Given the description of an element on the screen output the (x, y) to click on. 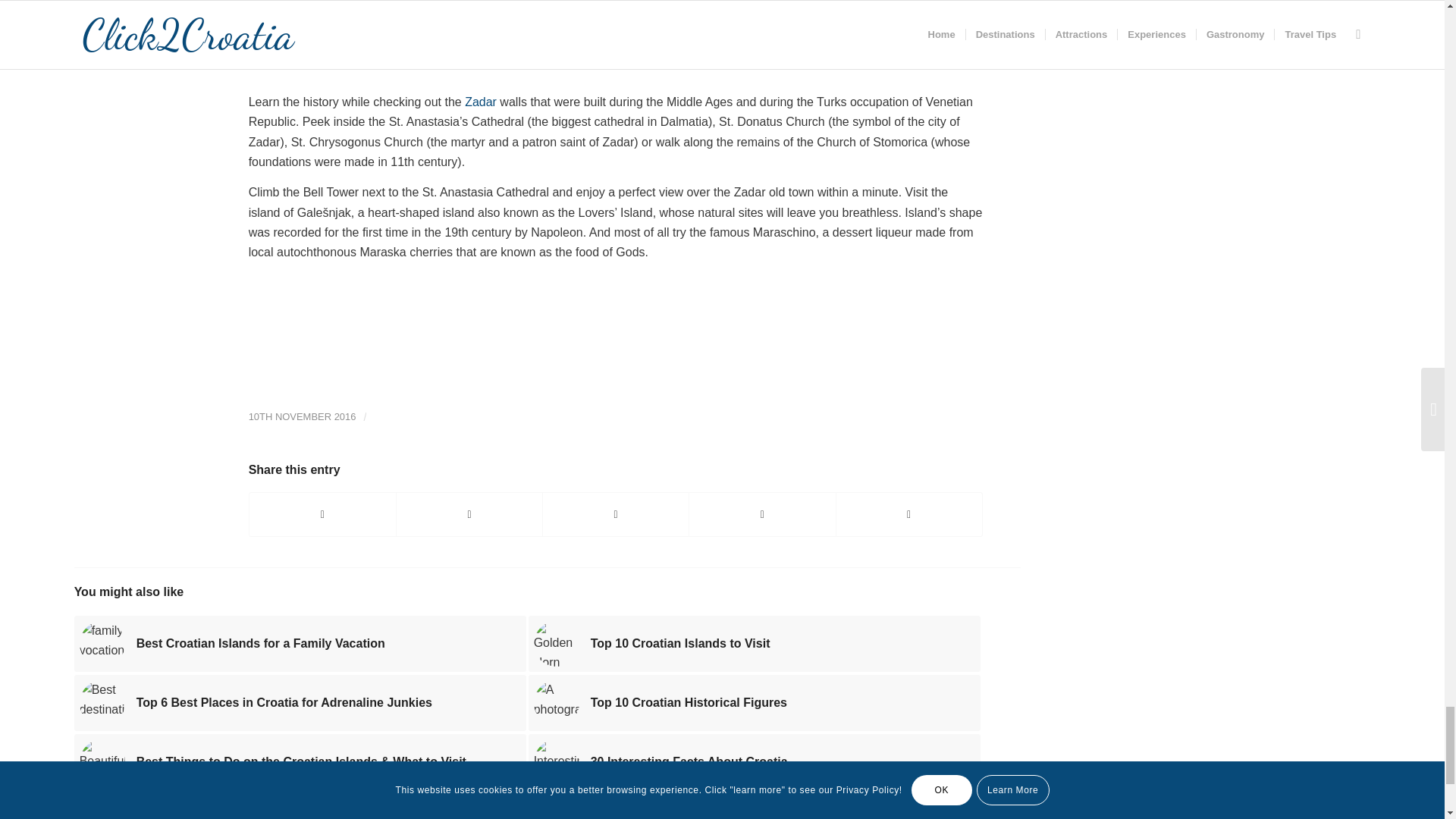
Top 10 Croatian Islands to Visit (753, 643)
Zadar (480, 101)
Best Croatian Islands for a Family Vacation (299, 643)
